Given the description of an element on the screen output the (x, y) to click on. 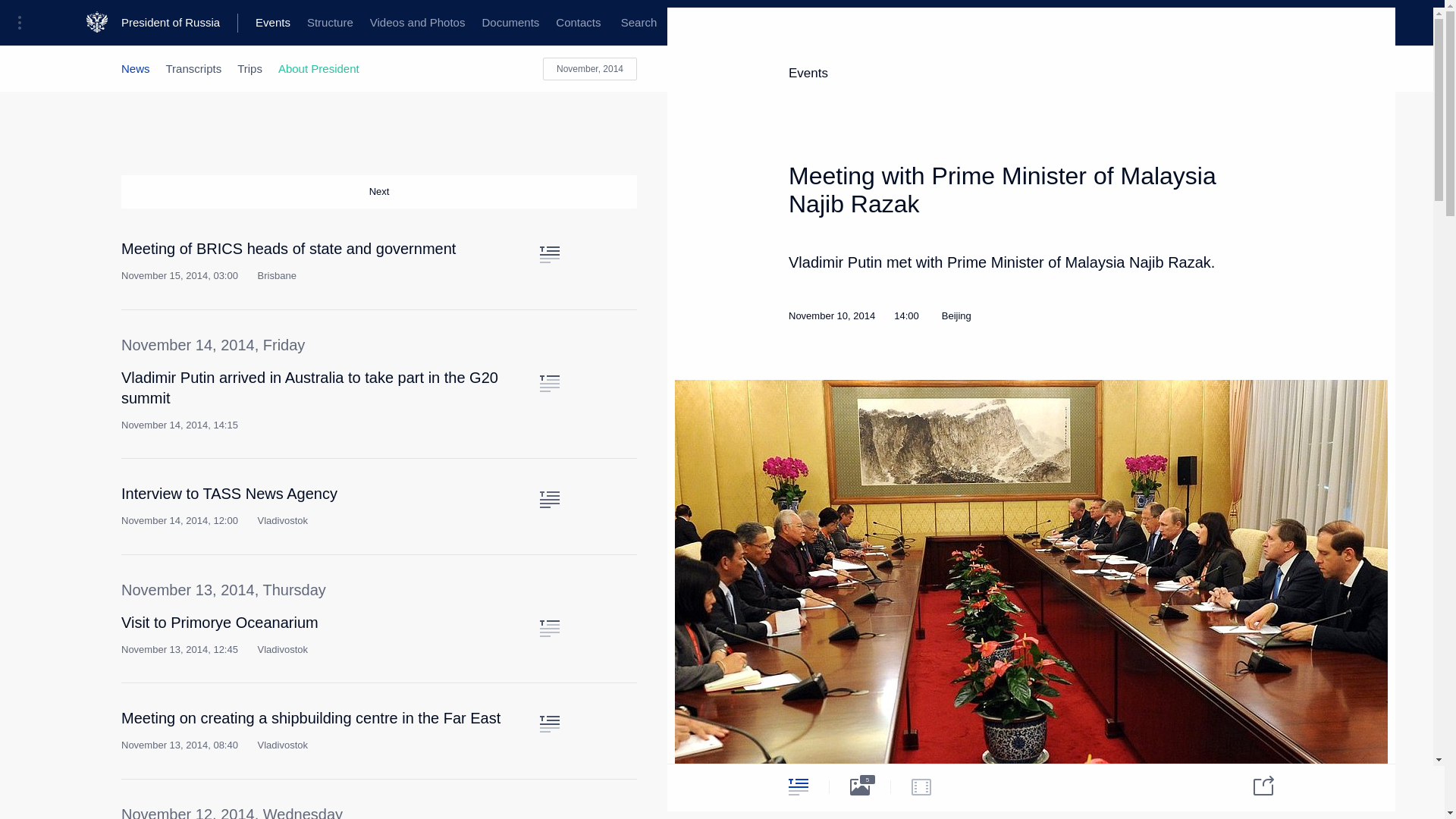
Text of the article (549, 254)
Commissions and Councils (596, 22)
Next (378, 191)
November, 2014 (590, 68)
Structure (329, 22)
Events (272, 22)
Search (638, 22)
President of Russia (179, 22)
President (144, 22)
Text of the article (549, 499)
